Given the description of an element on the screen output the (x, y) to click on. 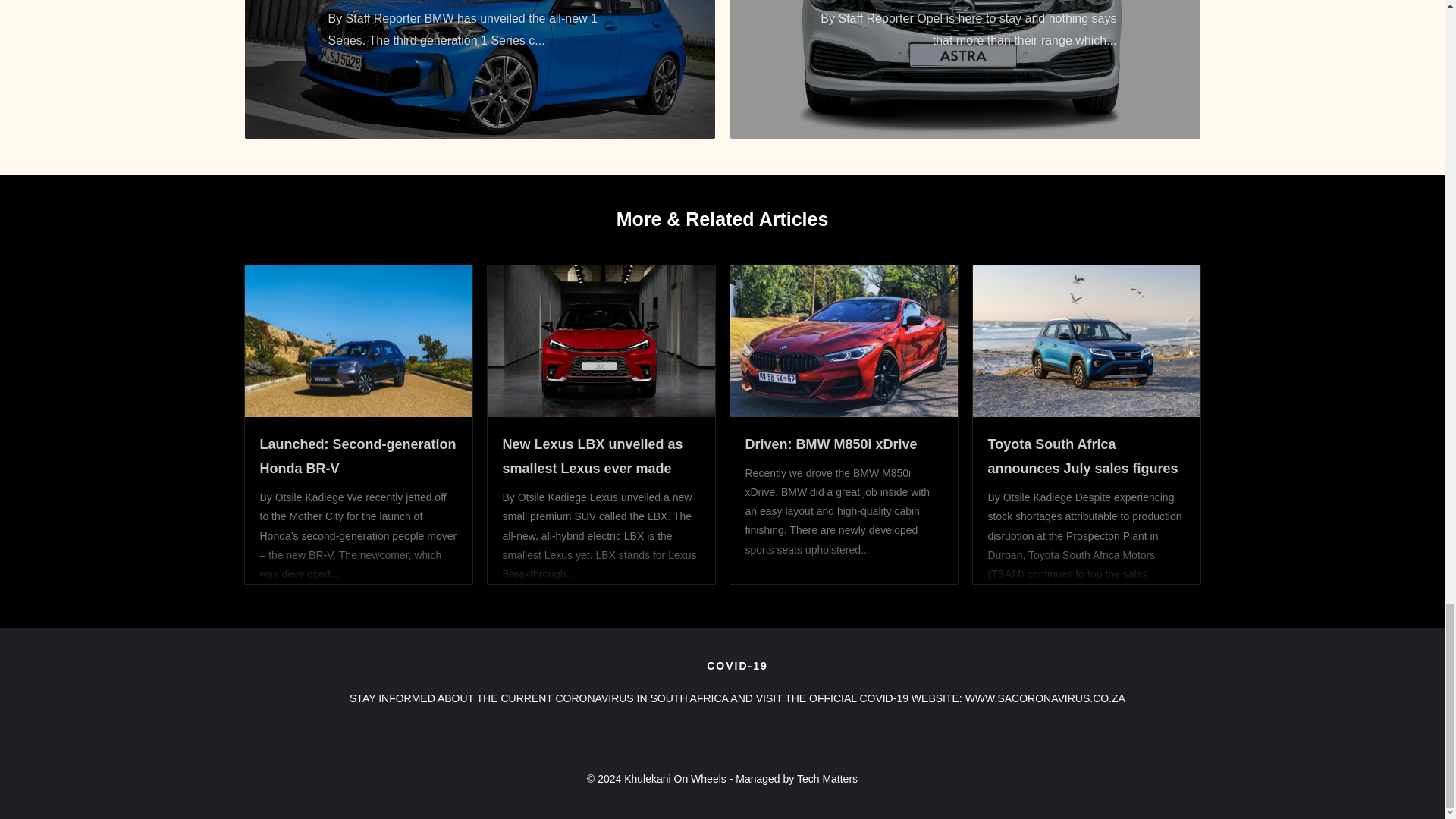
Tech Matters (826, 778)
